Given the description of an element on the screen output the (x, y) to click on. 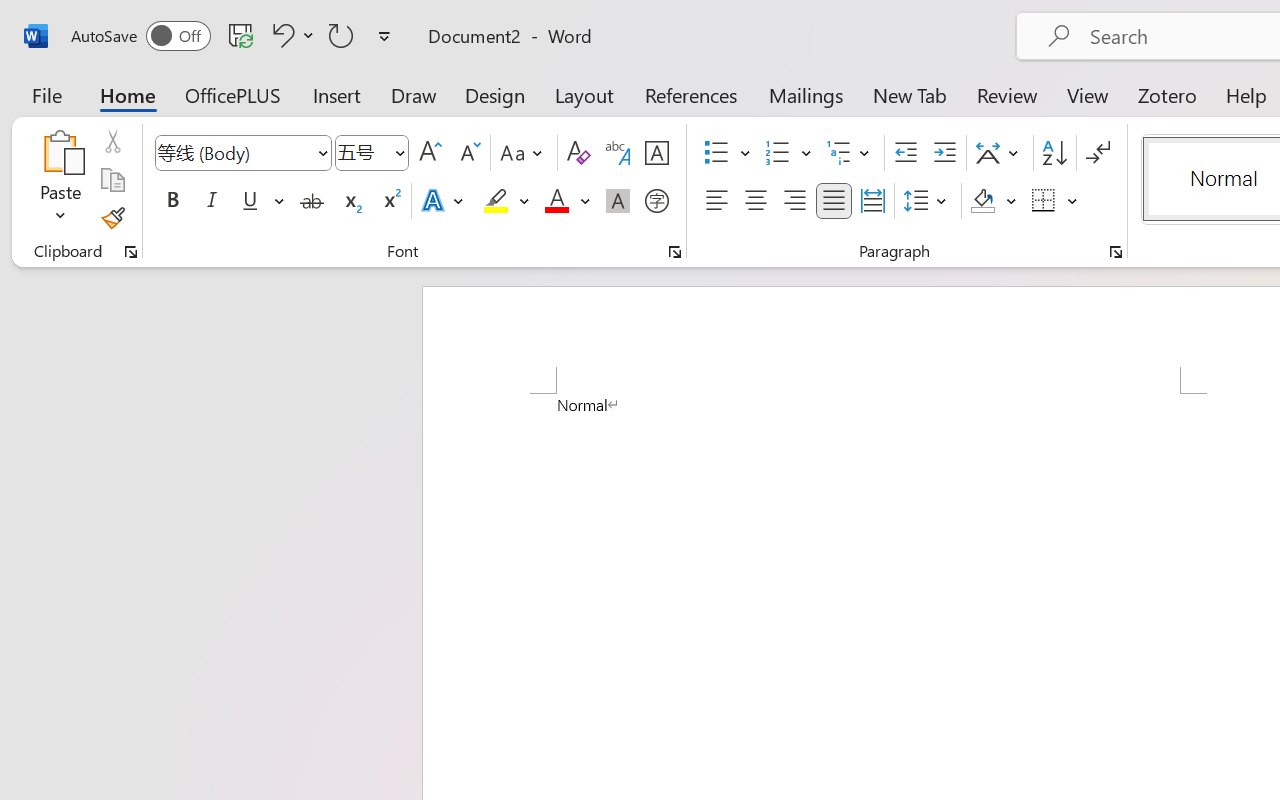
Italic (212, 201)
Undo Apply Quick Style (280, 35)
Zotero (1166, 94)
Font (234, 152)
Asian Layout (1000, 153)
Justify (834, 201)
Font (242, 153)
Draw (413, 94)
View (1087, 94)
Open (399, 152)
Line and Paragraph Spacing (927, 201)
Customize Quick Access Toolbar (384, 35)
Bullets (716, 153)
Numbering (778, 153)
Font Size (362, 152)
